Given the description of an element on the screen output the (x, y) to click on. 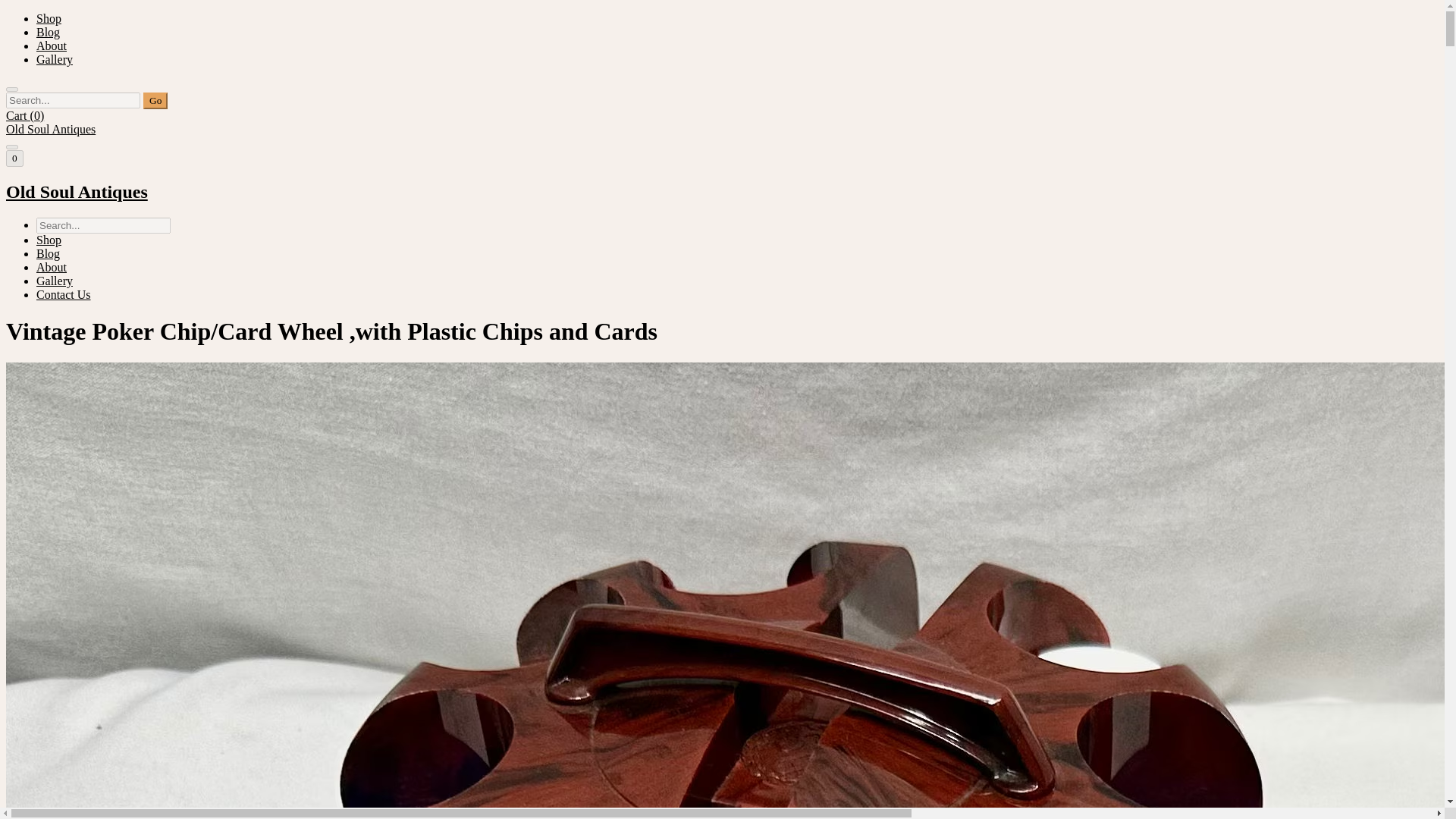
Gallery (54, 59)
Go (154, 100)
Go (154, 100)
About (51, 45)
About (51, 267)
0 (14, 158)
Shop (48, 18)
Blog (47, 31)
Shop (48, 239)
